Given the description of an element on the screen output the (x, y) to click on. 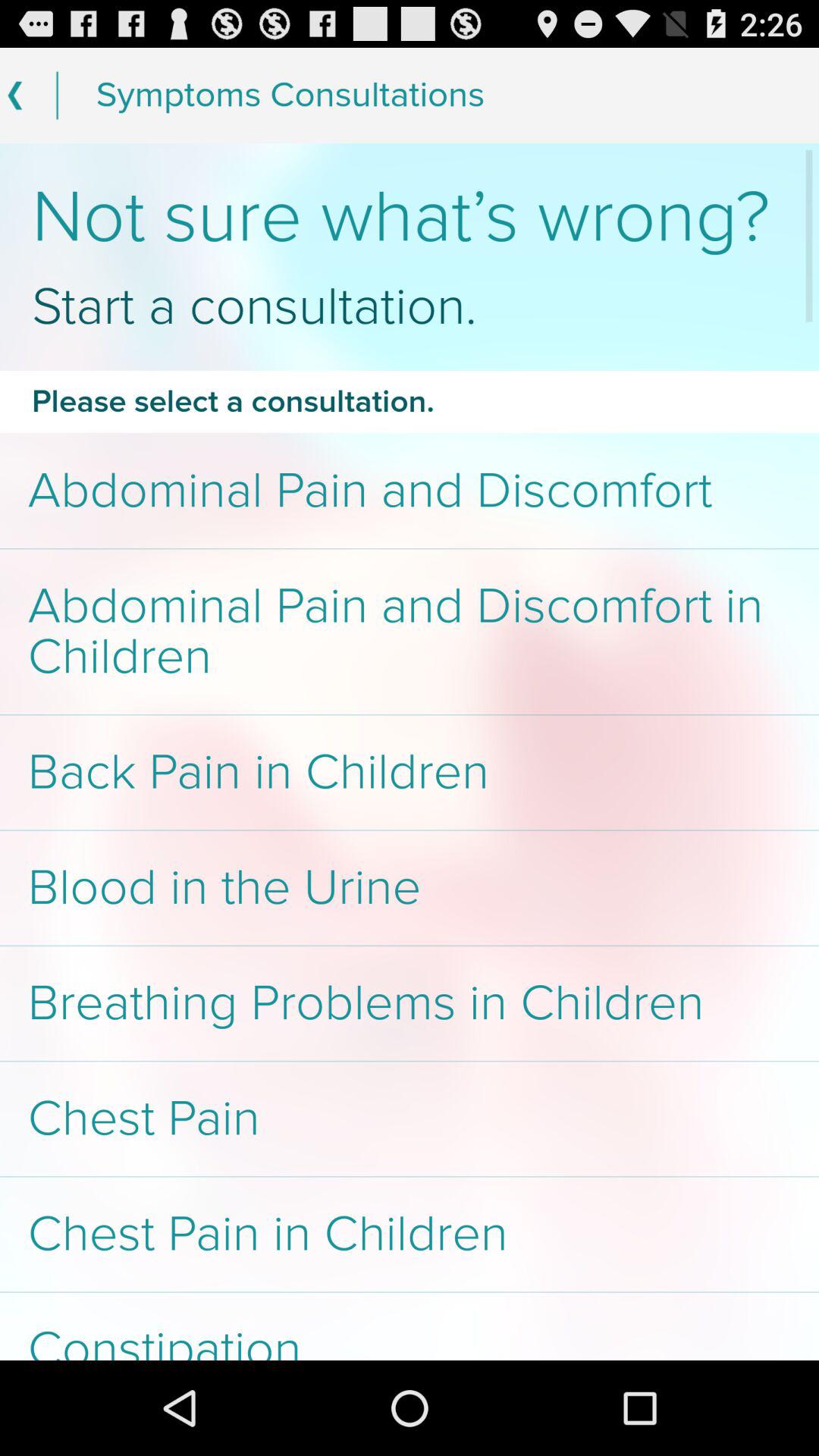
click app above breathing problems in item (409, 887)
